Given the description of an element on the screen output the (x, y) to click on. 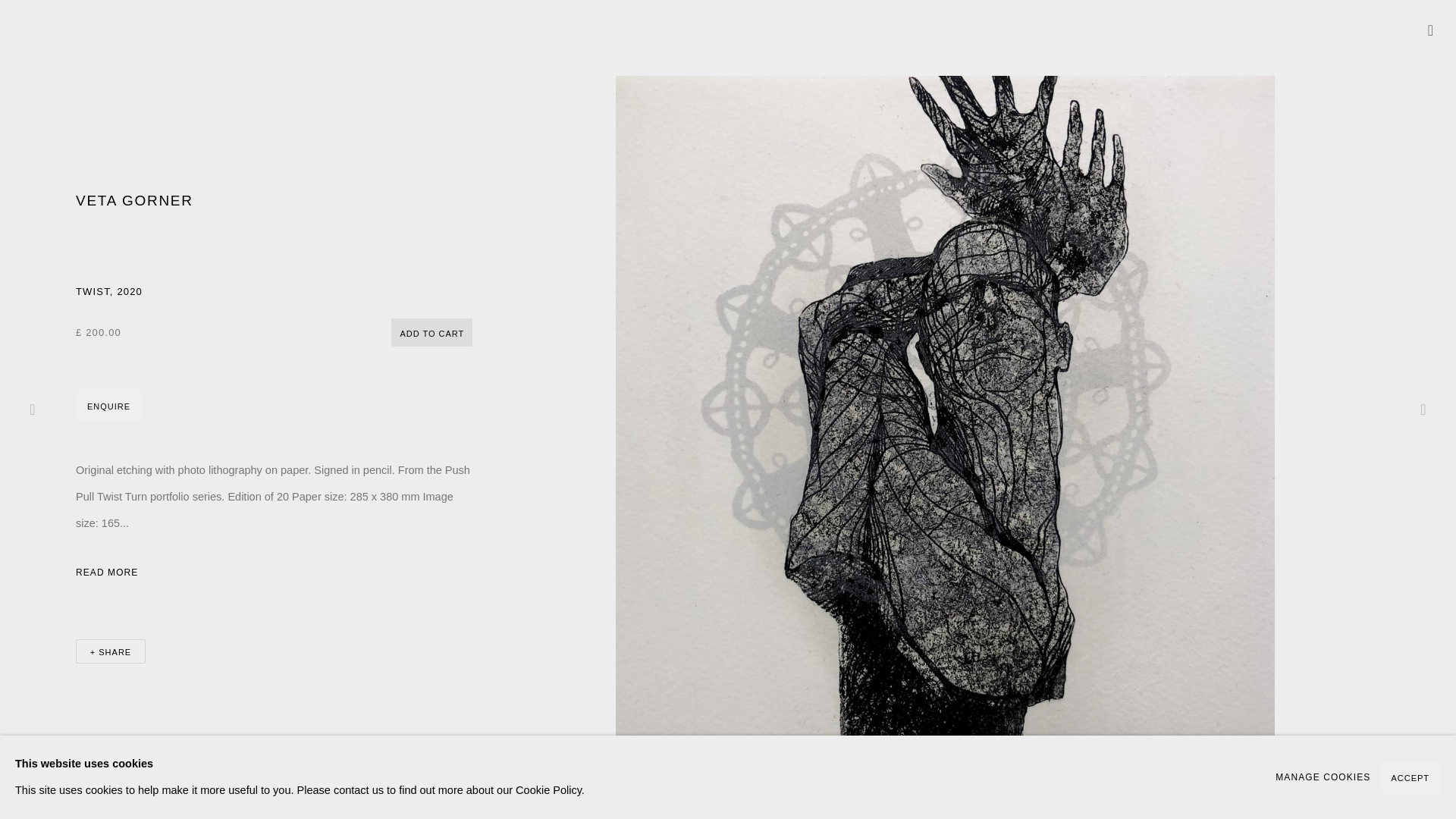
ETCHING (142, 191)
MANAGE COOKIES (375, 409)
ACCEPT (1409, 777)
Go (8, 5)
ACCESSIBILITY POLICY (258, 409)
ADD TO CART (1317, 323)
ENQUIRE (431, 332)
Open a larger version of the following image in a popup: (108, 405)
Send an email (1322, 777)
SITE BY ARTLOGIC (1340, 323)
CONTACT US (341, 436)
PRIVACY POLICY (141, 336)
VETA GORNER (146, 409)
